Given the description of an element on the screen output the (x, y) to click on. 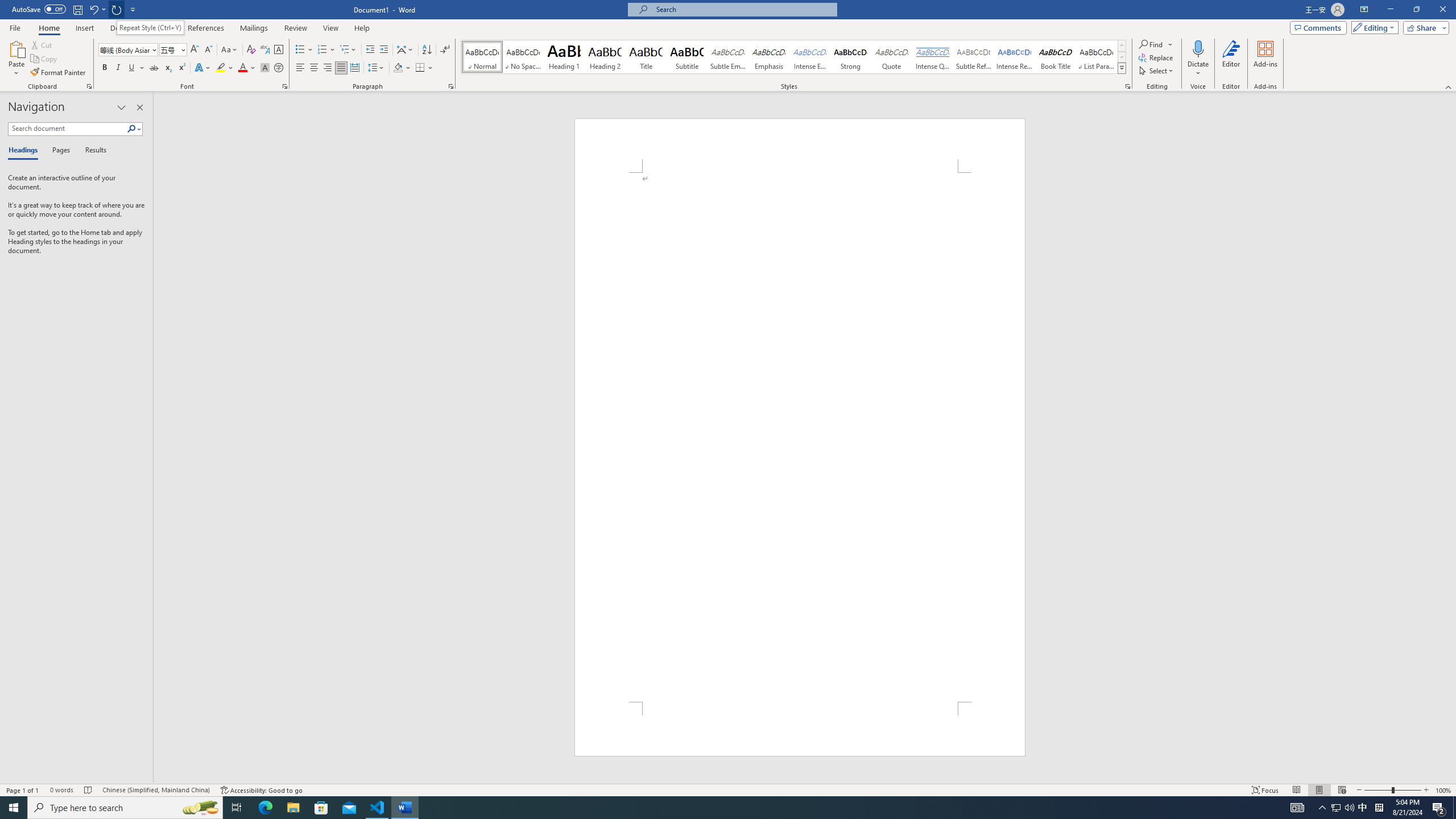
Justify (340, 67)
Text Effects and Typography (202, 67)
Character Border (278, 49)
Class: NetUIScrollBar (1450, 437)
Save (77, 9)
Font Color (246, 67)
Spelling and Grammar Check No Errors (88, 790)
Font (128, 49)
Zoom (1392, 790)
Sort... (426, 49)
Font Size (172, 49)
Share (1423, 27)
Cut (42, 44)
Distributed (354, 67)
